Given the description of an element on the screen output the (x, y) to click on. 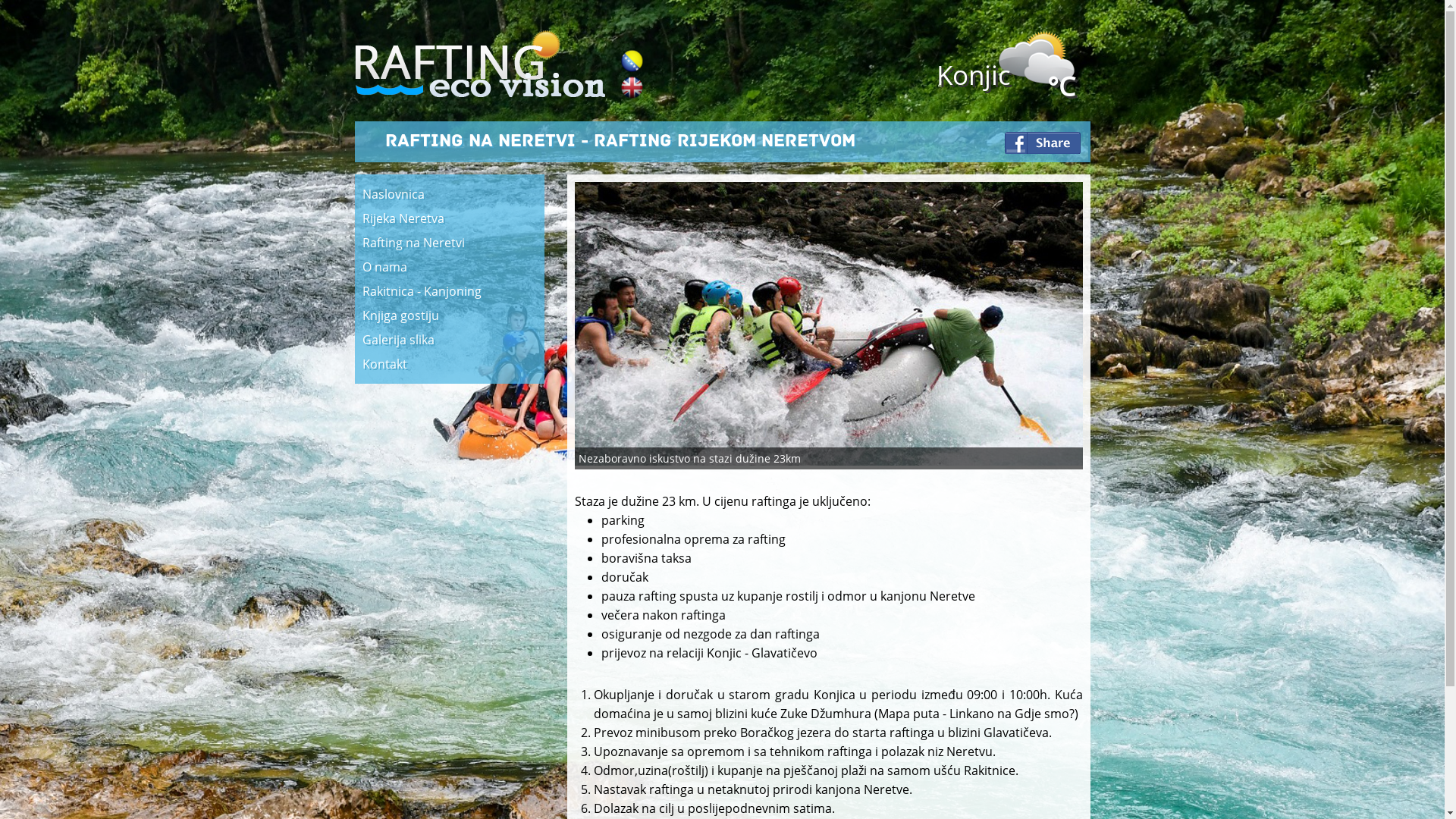
Rakitnica - Kanjoning Element type: text (449, 291)
Knjiga gostiju Element type: text (449, 315)
Rafting na Neretvi Element type: text (449, 242)
Kontakt Element type: text (449, 363)
Naslovnica Element type: text (449, 194)
Rijeka Neretva Element type: text (449, 218)
Galerija slika Element type: text (449, 339)
O nama Element type: text (449, 266)
